Given the description of an element on the screen output the (x, y) to click on. 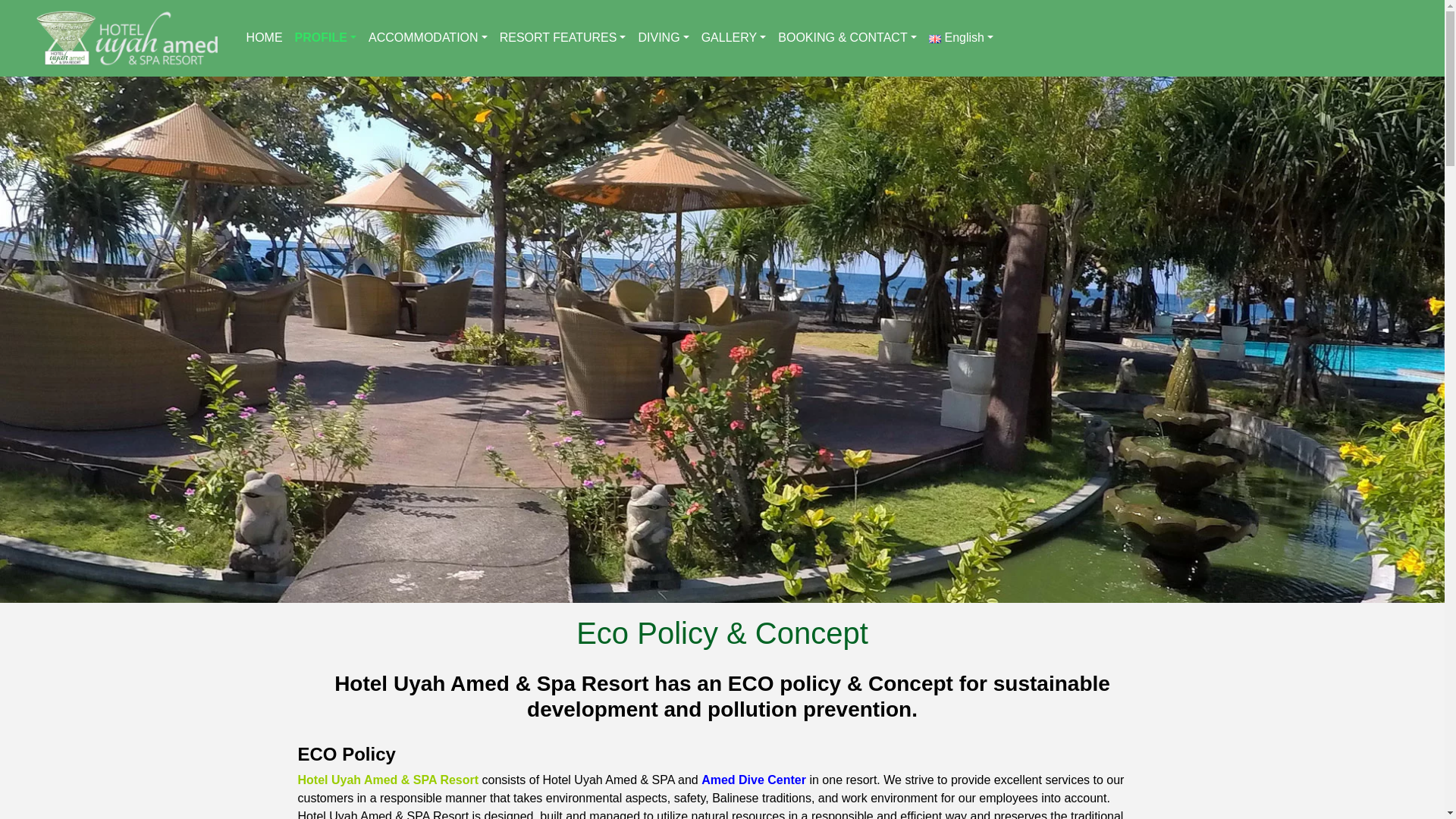
DIVING (662, 37)
GALLERY (734, 37)
Amed Dive Center (753, 779)
RESORT FEATURES (562, 37)
HOME (264, 37)
ACCOMMODATION (427, 37)
PROFILE (325, 37)
English (960, 37)
